Given the description of an element on the screen output the (x, y) to click on. 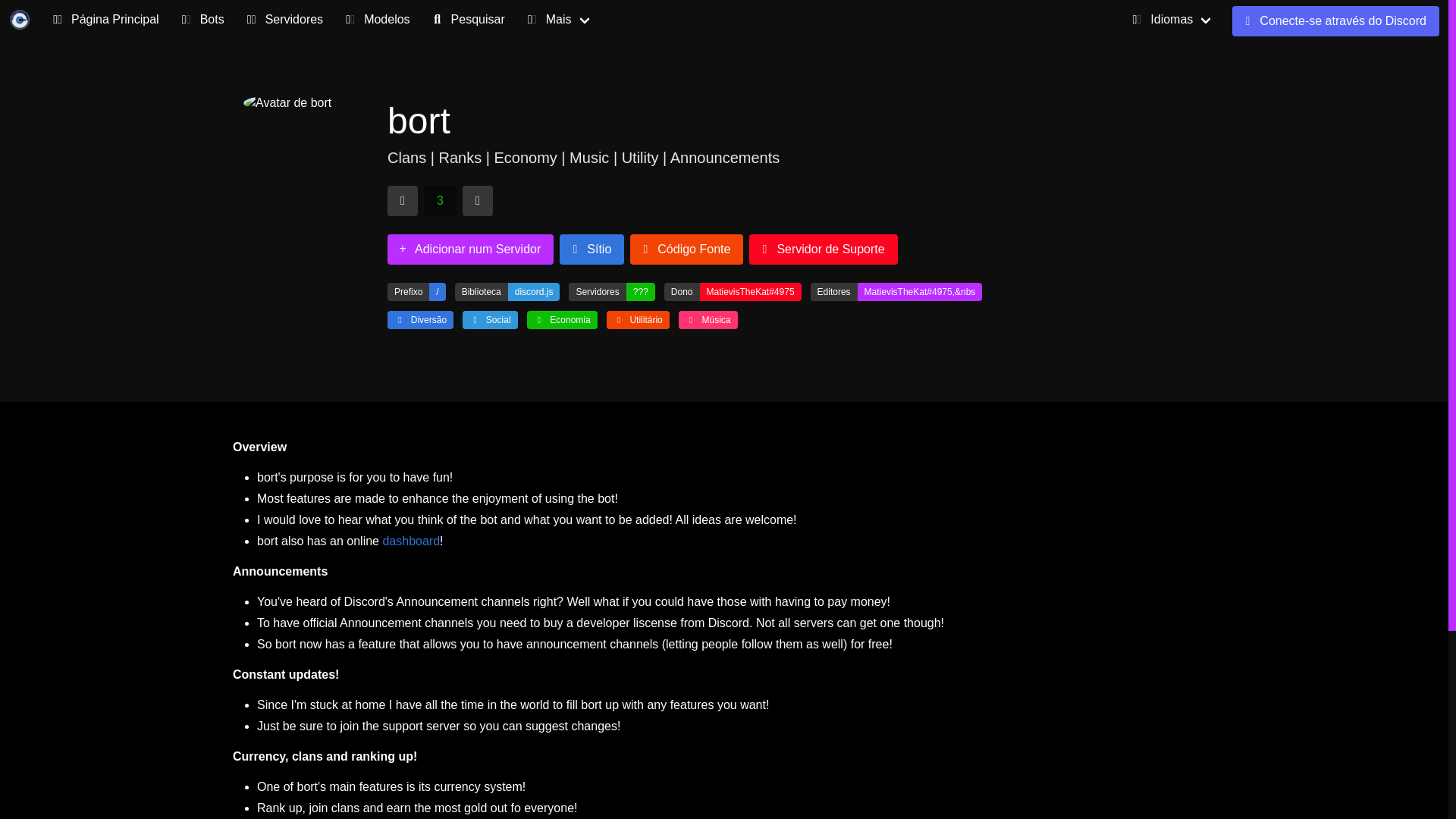
Adicionar num Servidor (470, 249)
Bots (200, 19)
Servidor de Suporte (822, 249)
Servidores (281, 19)
Votos (440, 200)
Pesquisar (466, 19)
Modelos (375, 19)
